Given the description of an element on the screen output the (x, y) to click on. 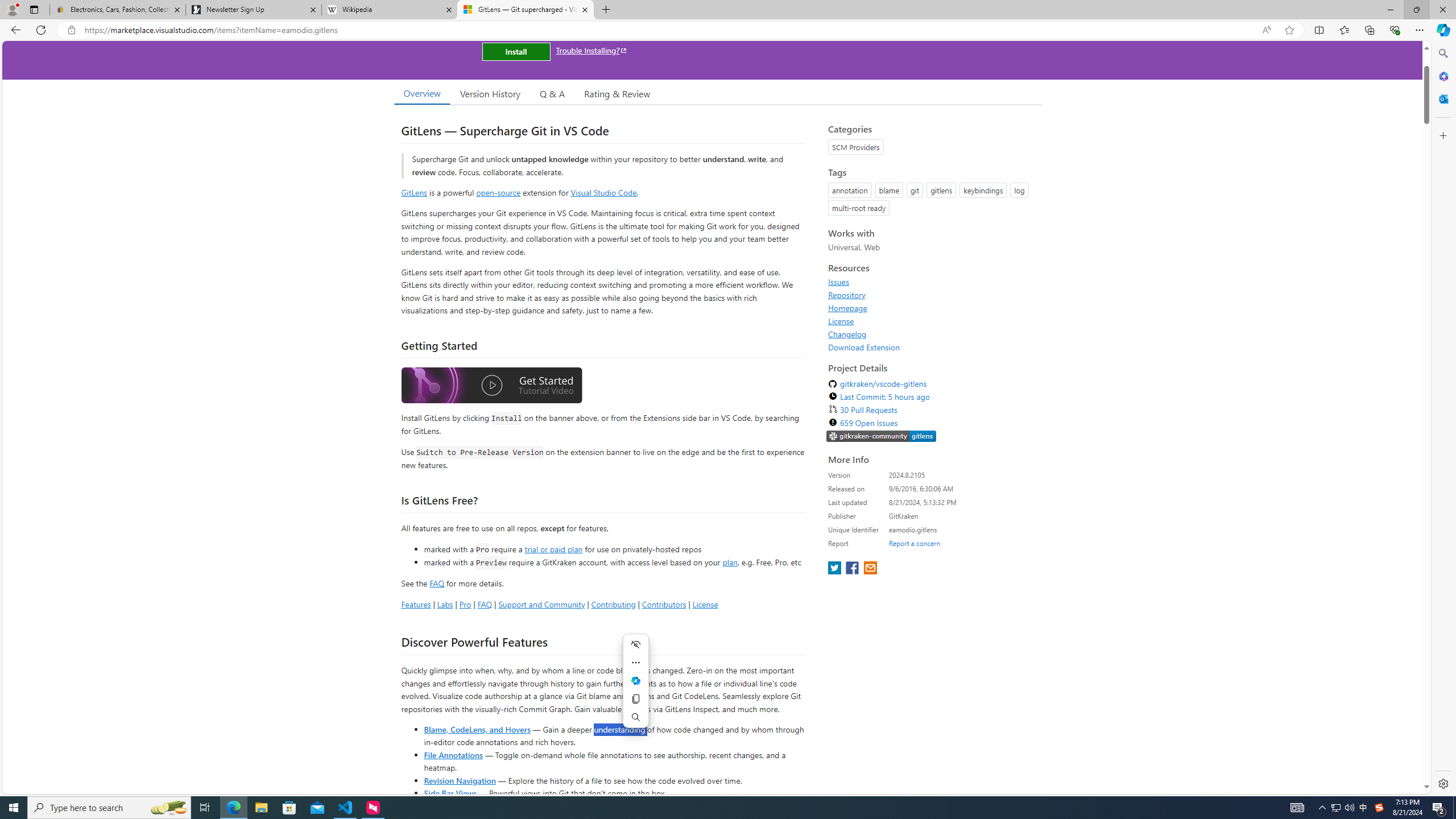
share extension on email (869, 568)
Contributors (663, 603)
Copy (635, 698)
https://slack.gitkraken.com// (881, 436)
Download Extension (931, 346)
Side Bar Views (449, 792)
Support and Community (541, 603)
